Given the description of an element on the screen output the (x, y) to click on. 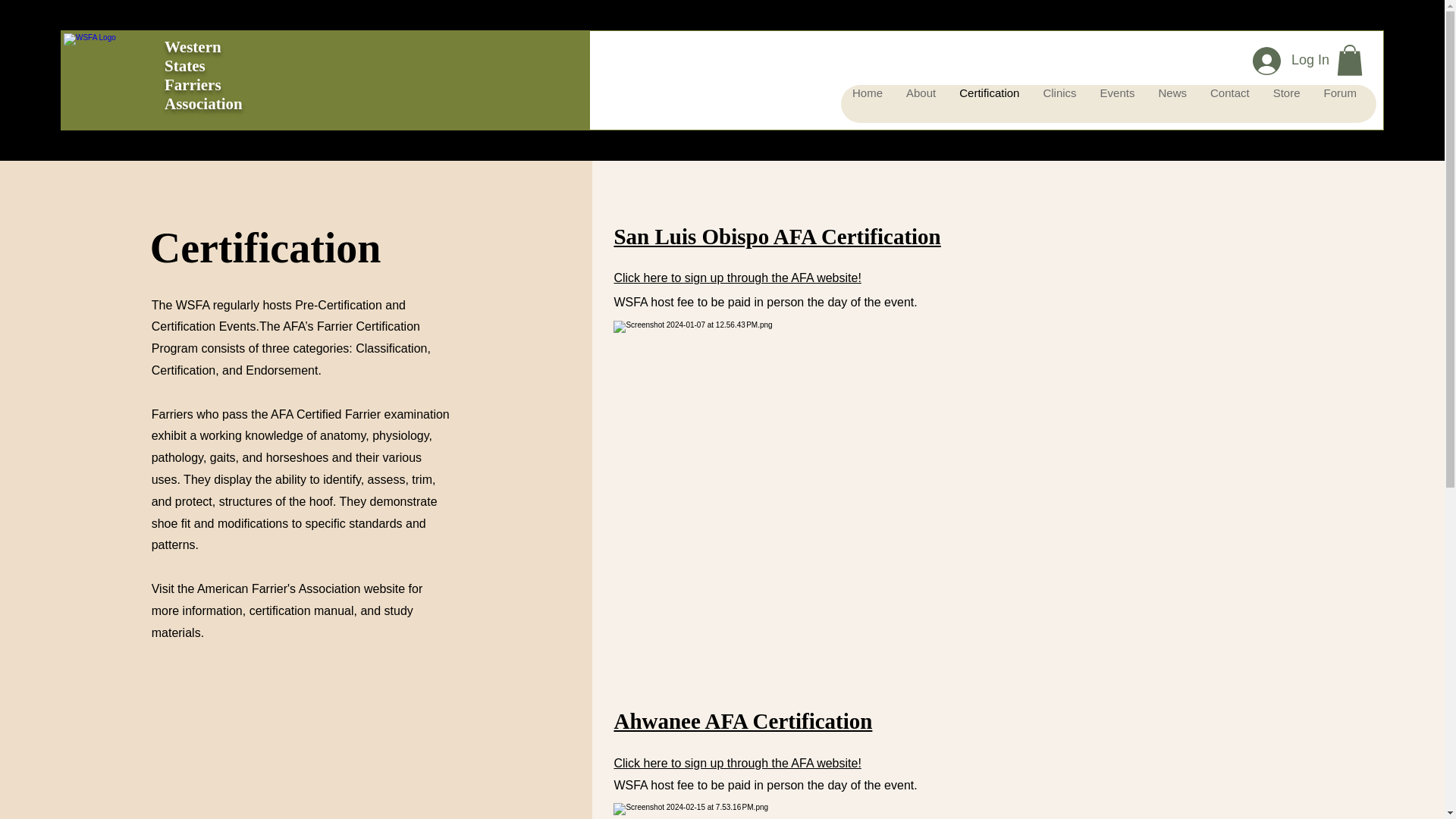
News (1171, 103)
About (920, 103)
Contact (1229, 103)
Events (1117, 103)
Certification (988, 103)
Click here to sign up through the AFA website! (736, 277)
Members (1403, 103)
Store (1285, 103)
Forum (1339, 103)
Home (867, 103)
Click here to sign up through the AFA website! (736, 762)
Clinics (1058, 103)
Log In (1287, 60)
